Given the description of an element on the screen output the (x, y) to click on. 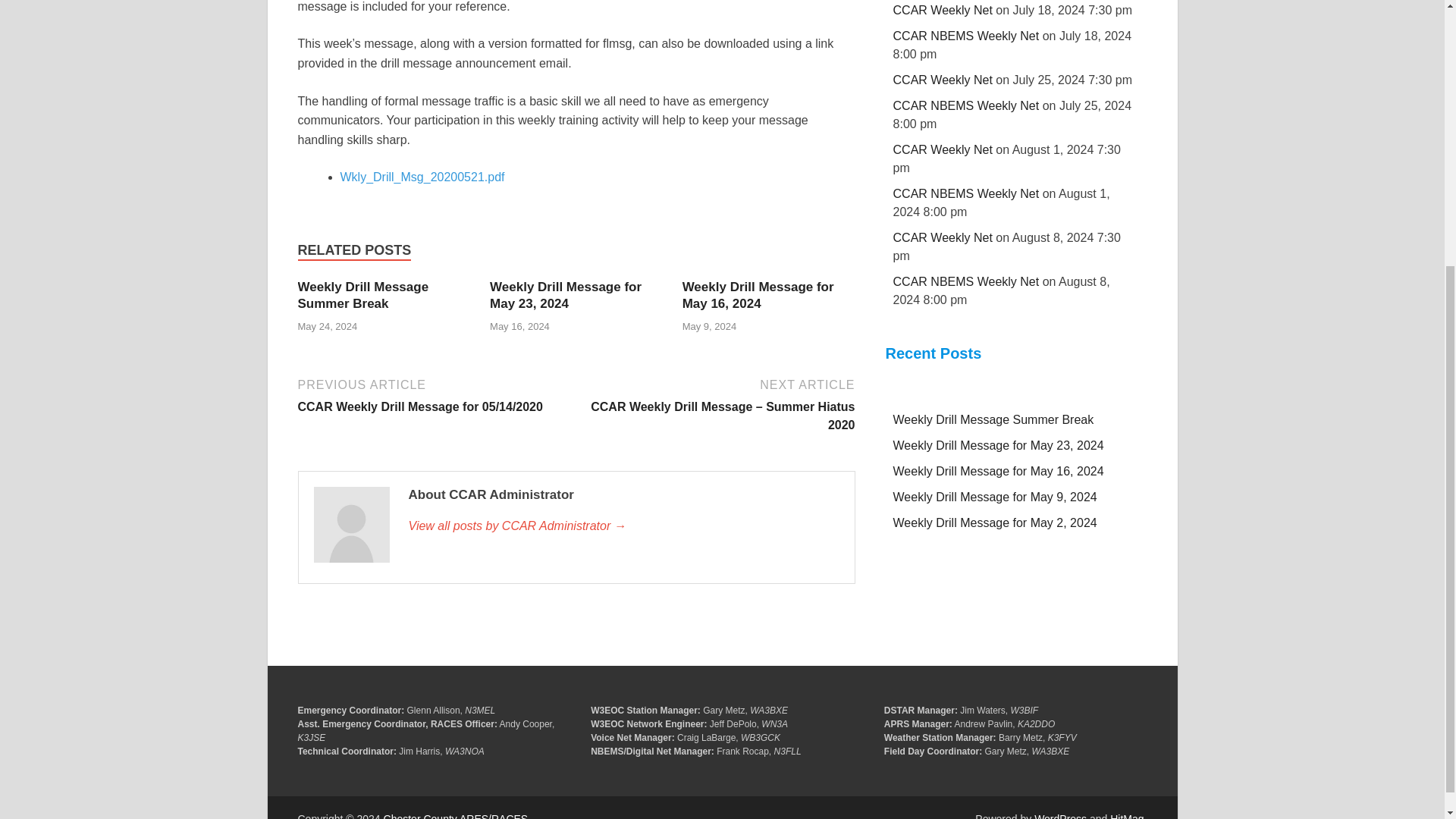
Weekly Drill Message Summer Break (362, 295)
Weekly Drill Message for May 23, 2024 (565, 295)
CCAR Administrator (622, 525)
Weekly Drill Message for May 16, 2024 (758, 295)
